Given the description of an element on the screen output the (x, y) to click on. 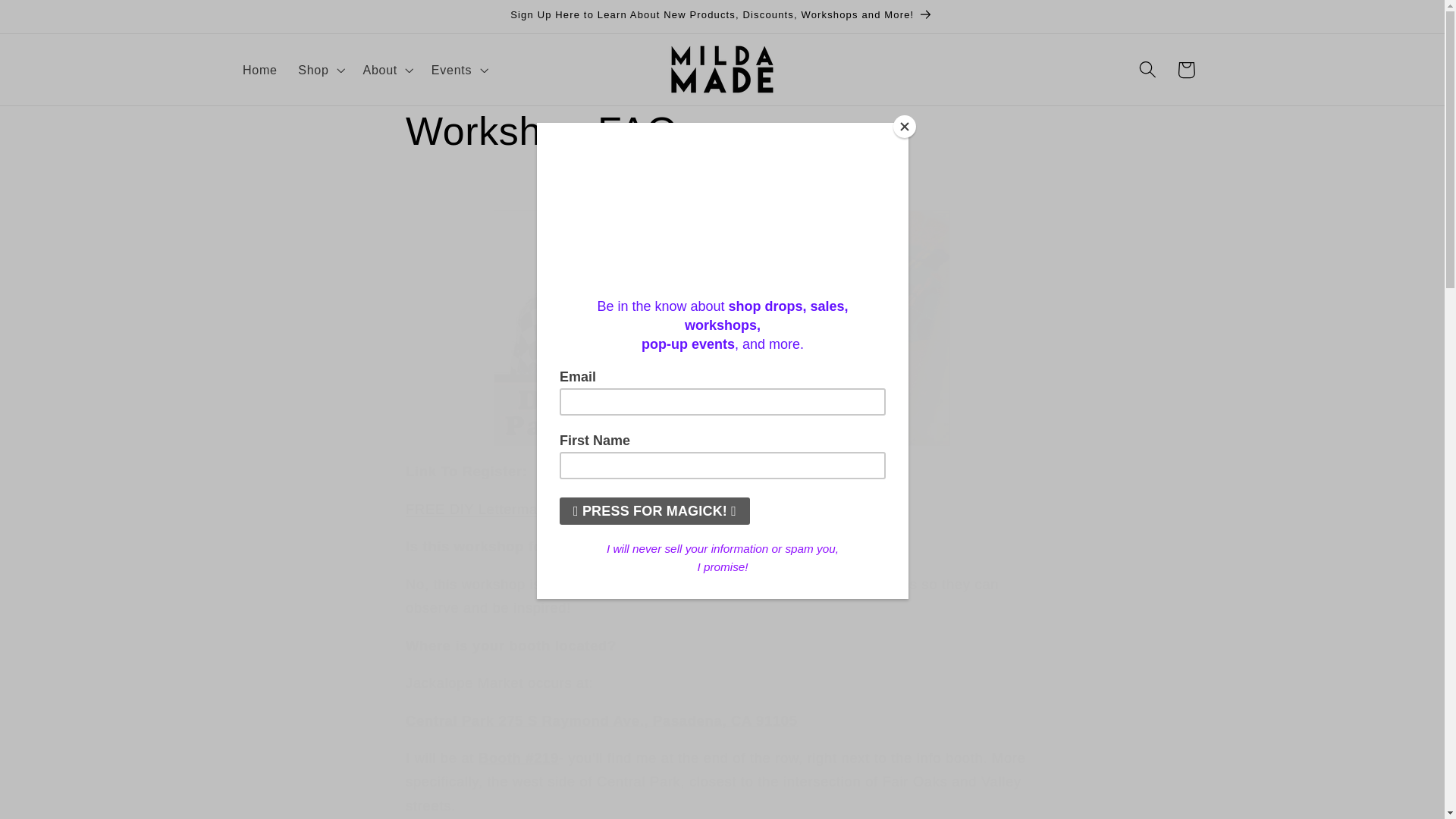
Workshop FAQ (722, 132)
Skip to content (52, 20)
Home (258, 69)
